Given the description of an element on the screen output the (x, y) to click on. 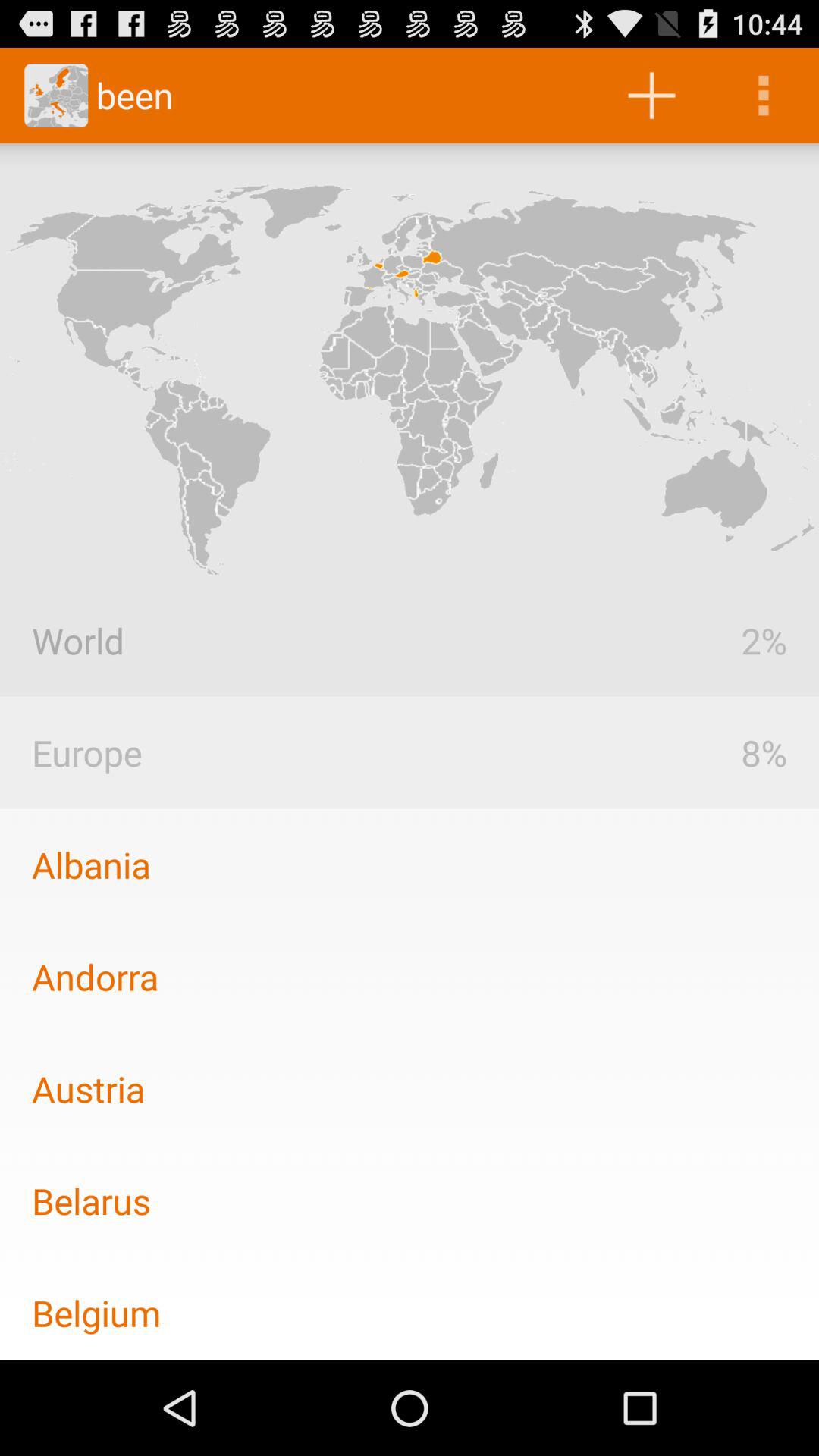
go the icon in the top most left (55, 95)
